Given the description of an element on the screen output the (x, y) to click on. 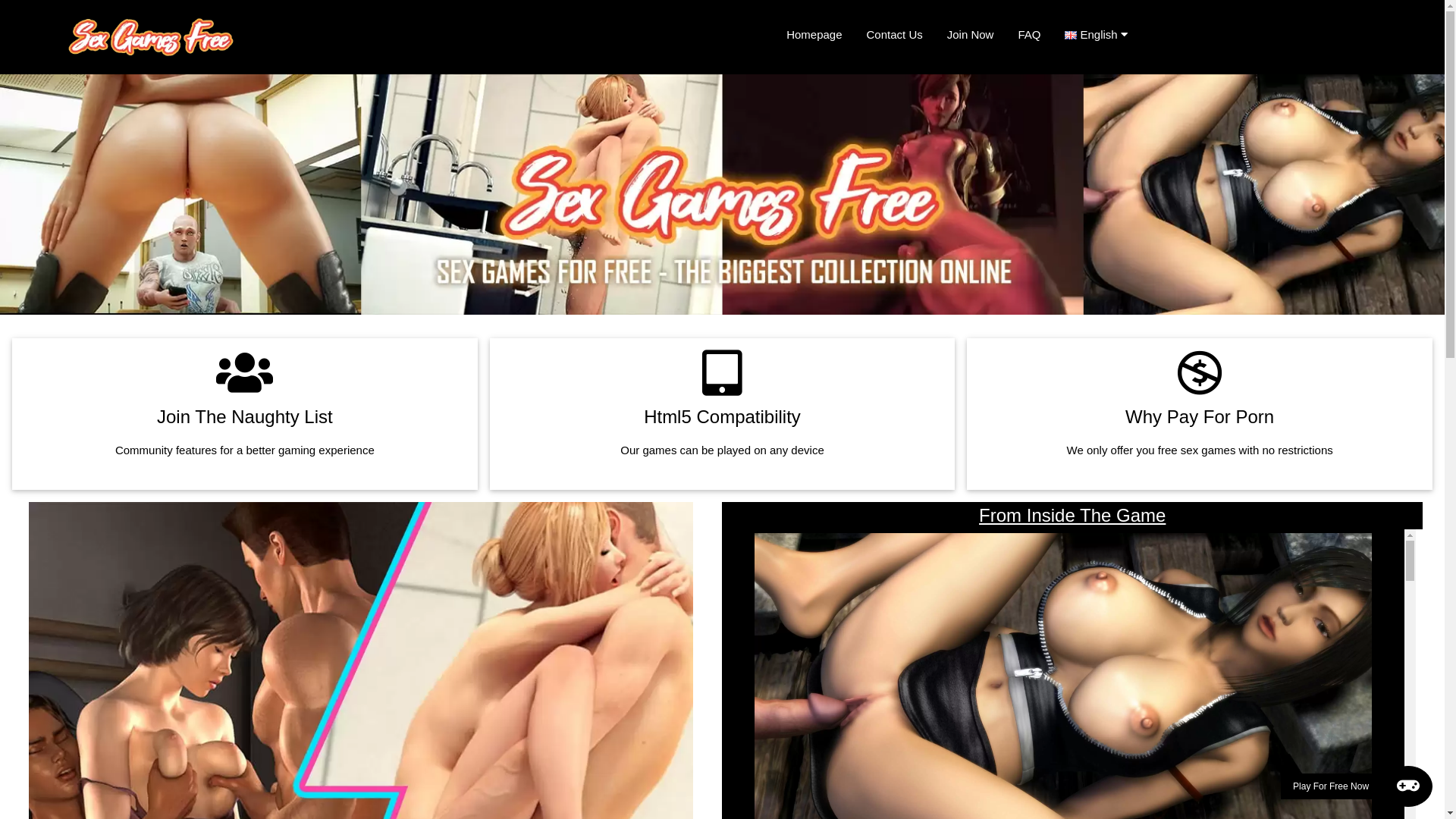
Homepage Element type: text (813, 35)
English Element type: text (1101, 35)
Contact Us Element type: text (894, 35)
Join Now Element type: text (970, 35)
Play For Free Now Element type: text (1356, 785)
FAQ Element type: text (1028, 35)
